Given the description of an element on the screen output the (x, y) to click on. 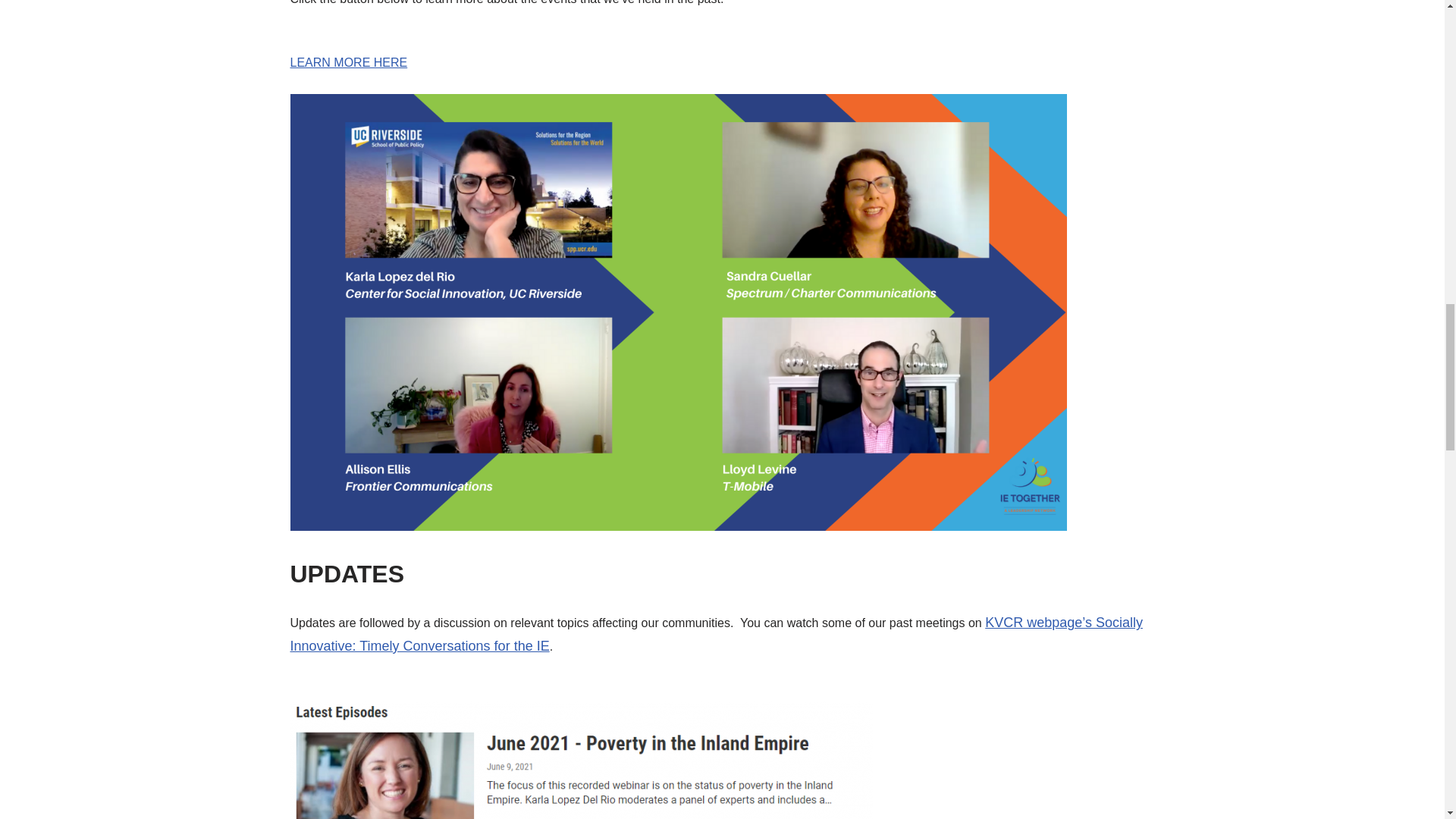
LEARN MORE HERE (348, 72)
